Given the description of an element on the screen output the (x, y) to click on. 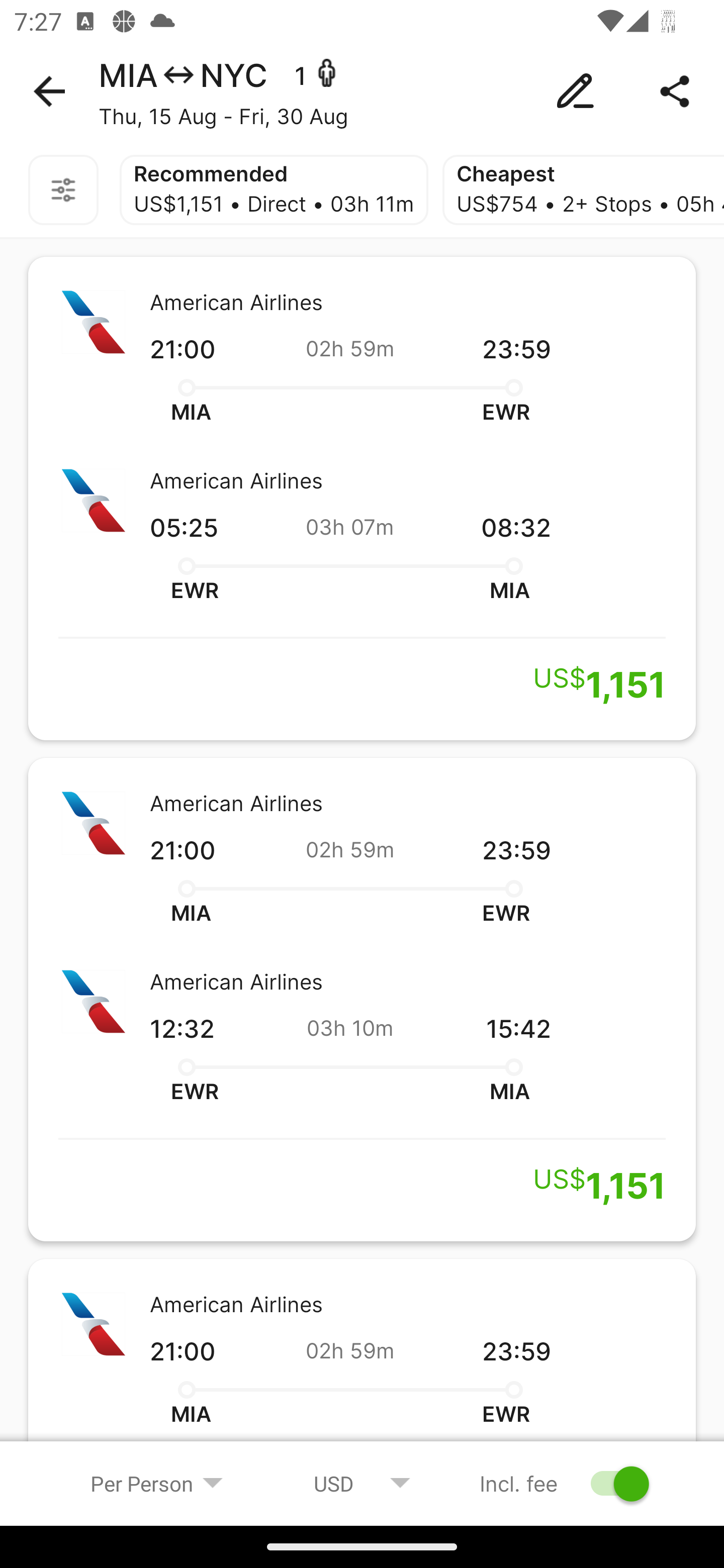
MIA NYC   1 - Thu, 15 Aug - Fri, 30 Aug (361, 91)
Recommended  US$1,151 • Direct • 03h 11m (273, 190)
Cheapest US$754 • 2+ Stops • 05h 48m (583, 190)
Per Person (156, 1482)
USD (361, 1482)
